Given the description of an element on the screen output the (x, y) to click on. 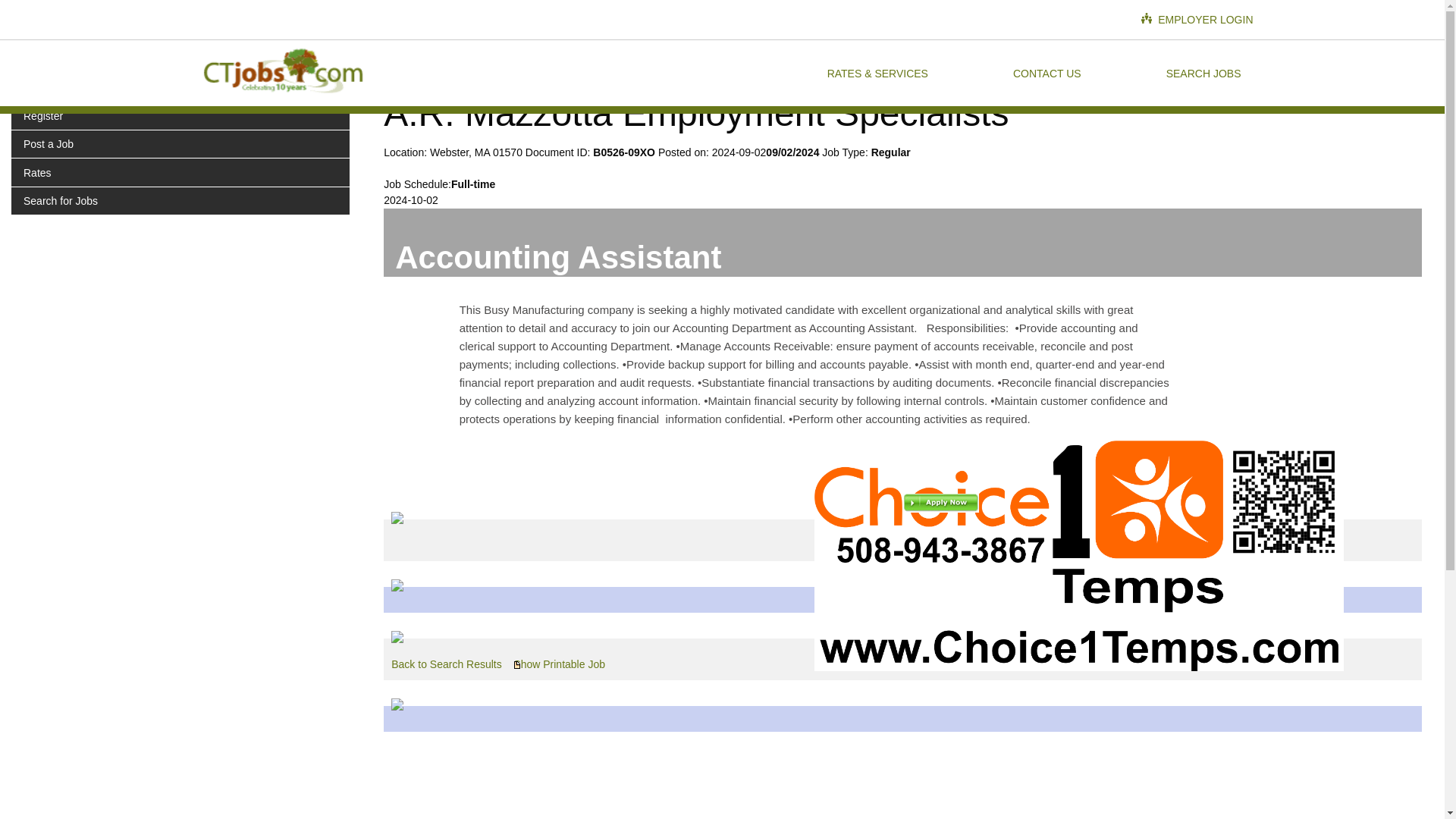
Show Printable Job (559, 664)
Rates (180, 171)
CONTACT US (1047, 72)
CT Jobs (281, 72)
EMPLOYER LOGIN (1196, 19)
Search for Jobs (180, 200)
DESKTOP (180, 39)
Log In (180, 86)
SEARCH JOBS (1203, 72)
Back to Search Results (446, 664)
